Given the description of an element on the screen output the (x, y) to click on. 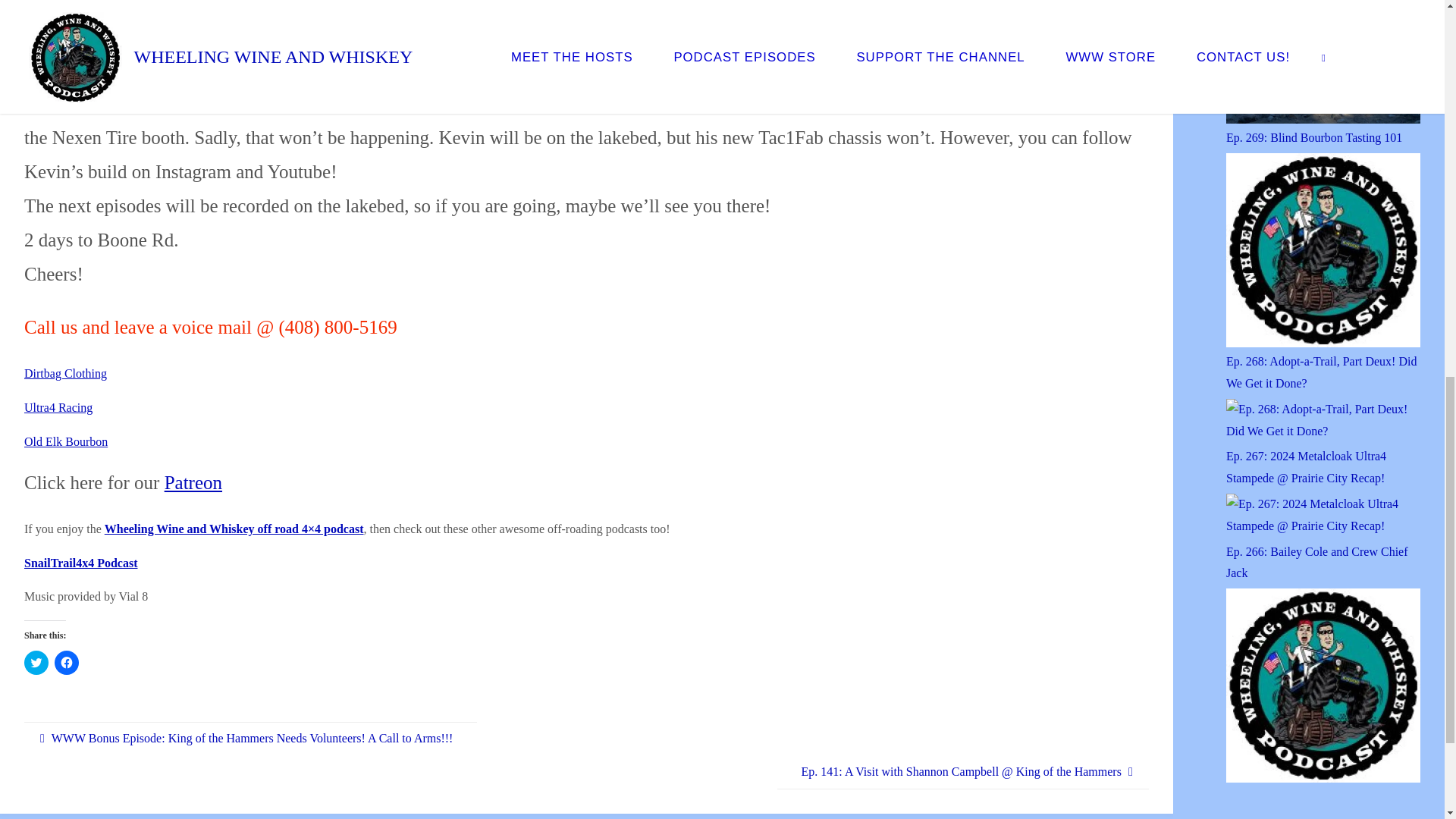
Click to share on Twitter (36, 662)
Click to share on Facebook (66, 662)
SnailTrail4x4 Podcast (81, 562)
Old Elk Bourbon (65, 440)
Dirtbag Clothing (65, 373)
Patreon (193, 482)
Ultra4 Racing (58, 407)
